Given the description of an element on the screen output the (x, y) to click on. 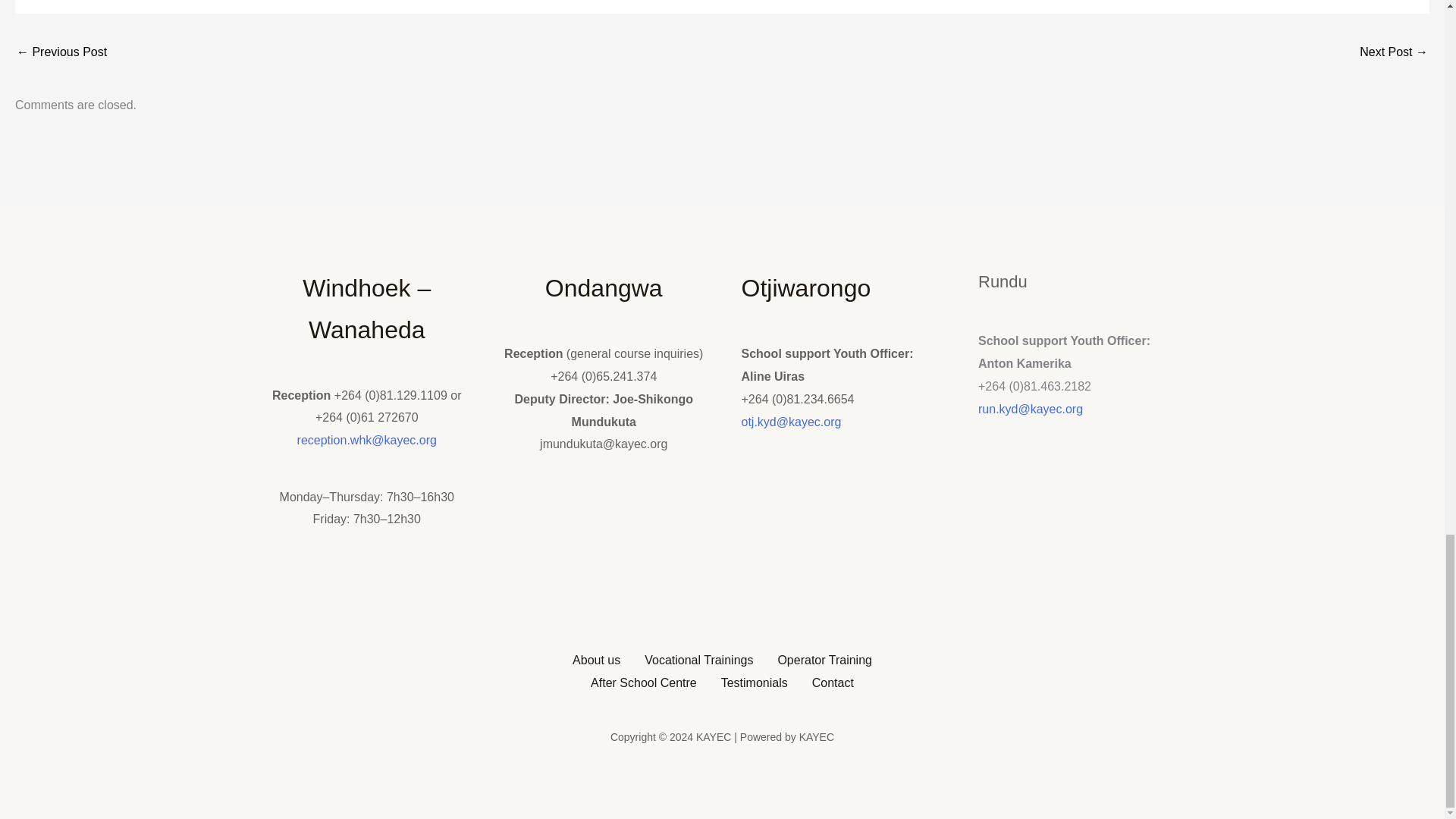
Automotive training puts J.N.'s career in gear (1393, 53)
KAYEC gets NQA accreditation (61, 53)
